Given the description of an element on the screen output the (x, y) to click on. 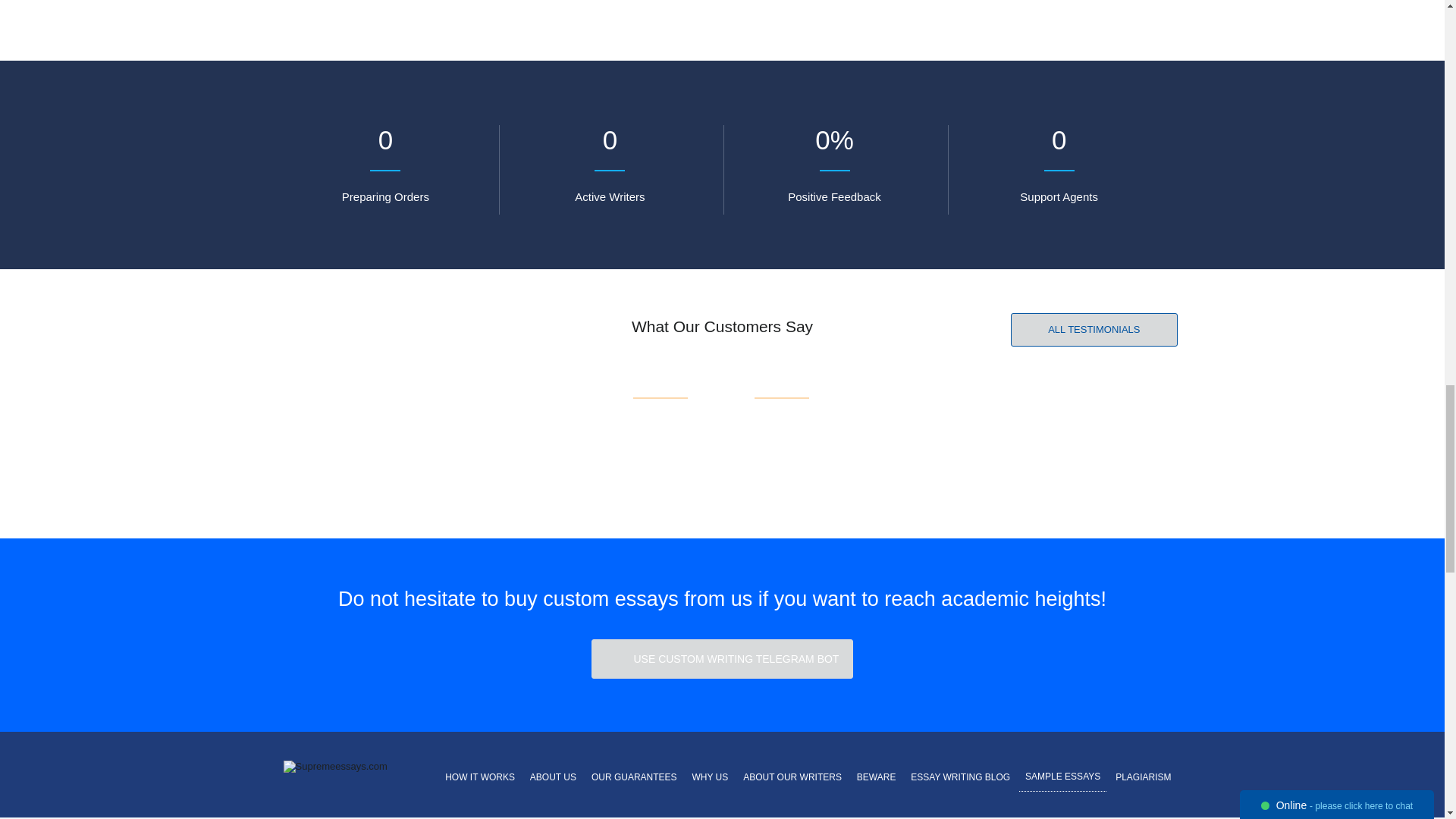
USE CUSTOM WRITING TELEGRAM BOT (722, 658)
HOW IT WORKS (480, 776)
What Our Customers Say (721, 325)
ABOUT US (553, 776)
ALL TESTIMONIALS (1093, 329)
Supremeessays.com (335, 766)
